Given the description of an element on the screen output the (x, y) to click on. 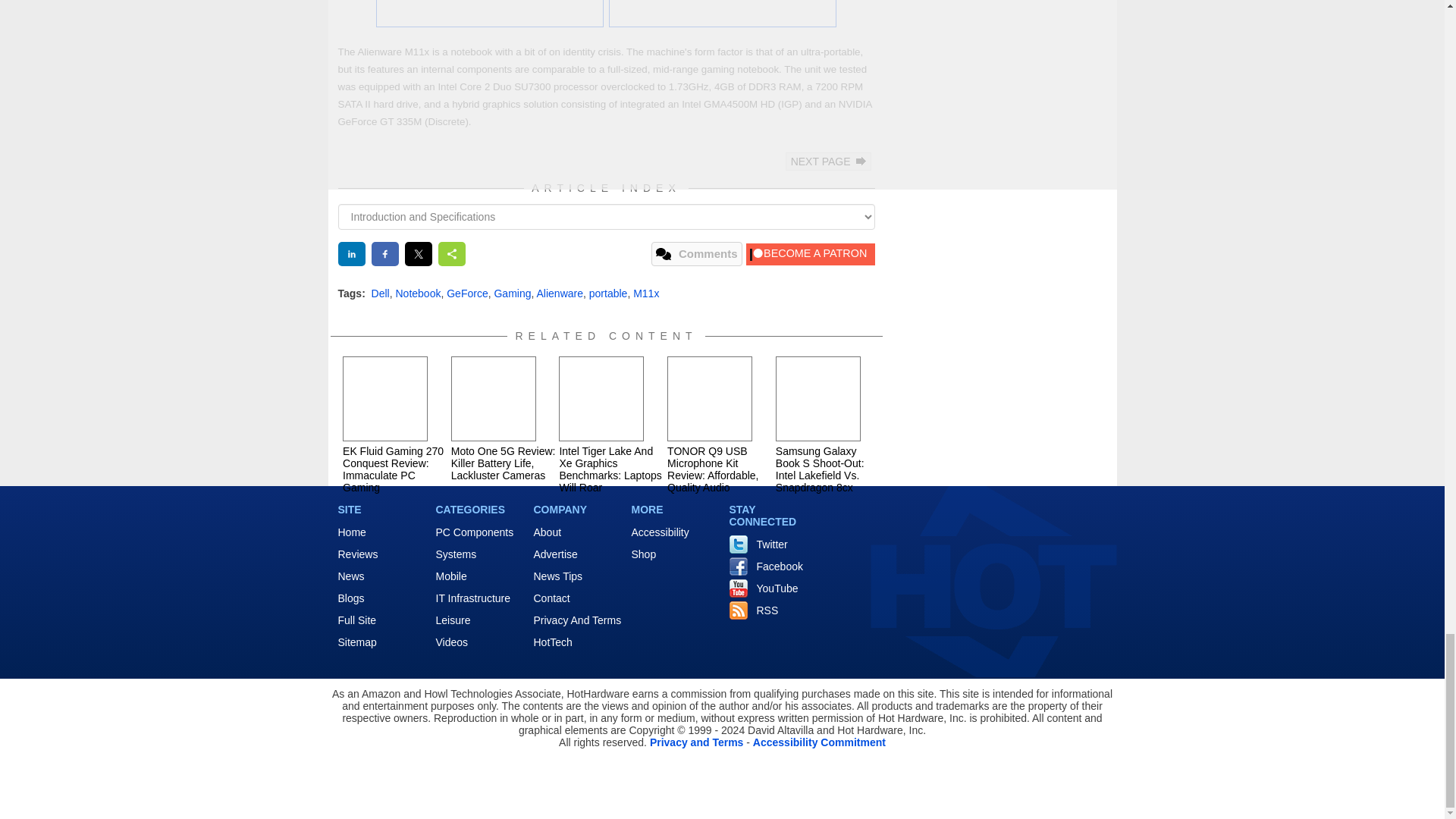
Comments (696, 253)
EK Fluid Gaming 270 Conquest Review: Immaculate PC Gaming (384, 398)
Moto One 5G Review: Killer Battery Life, Lackluster Cameras (493, 398)
